Given the description of an element on the screen output the (x, y) to click on. 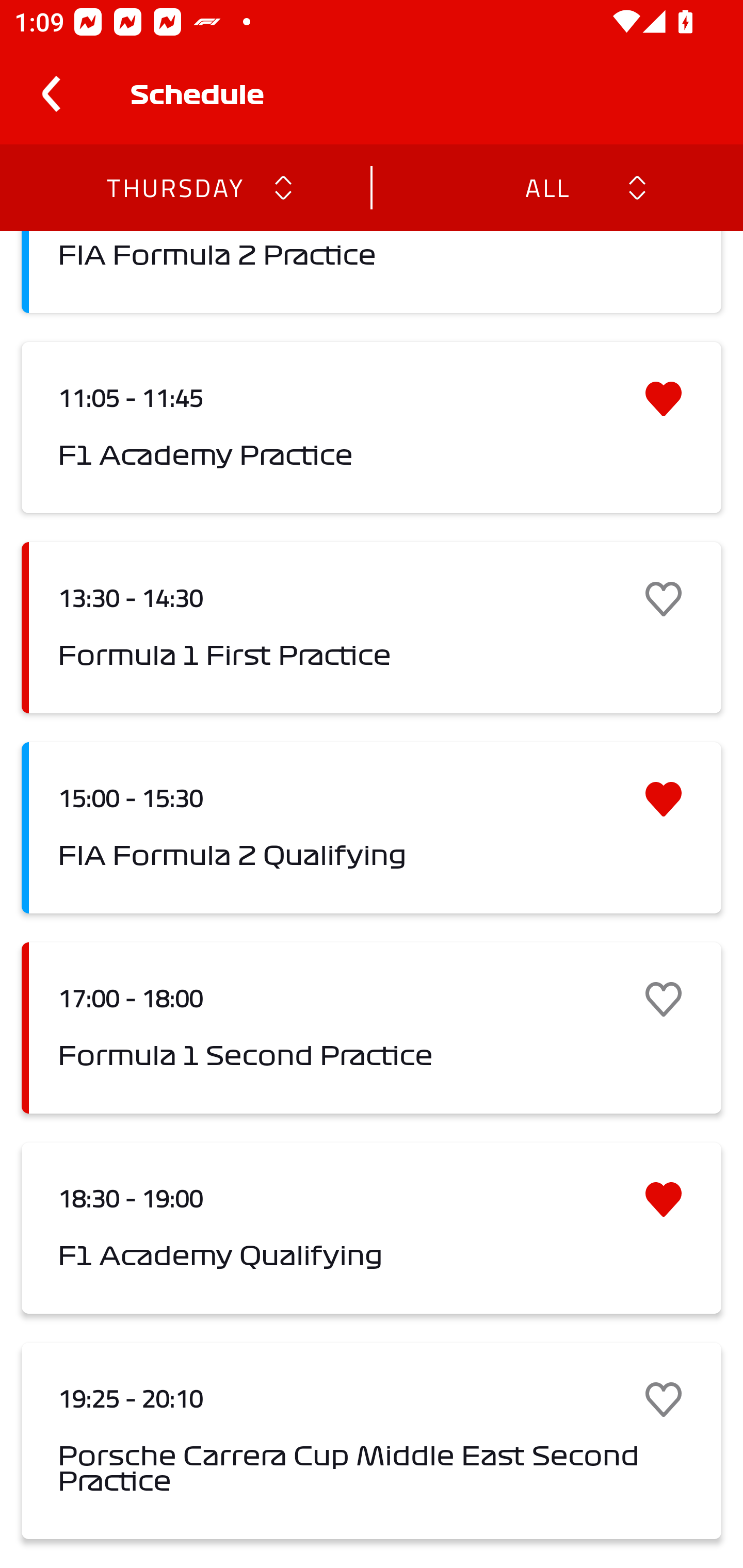
Navigate up (50, 93)
THURSDAY (174, 187)
ALL (546, 187)
FIA Formula 2 Practice (371, 271)
11:05 - 11:45 F1 Academy Practice (371, 426)
13:30 - 14:30 Formula 1 First Practice (371, 627)
15:00 - 15:30 FIA Formula 2 Qualifying (371, 827)
17:00 - 18:00 Formula 1 Second Practice (371, 1027)
18:30 - 19:00 F1 Academy Qualifying (371, 1228)
